Given the description of an element on the screen output the (x, y) to click on. 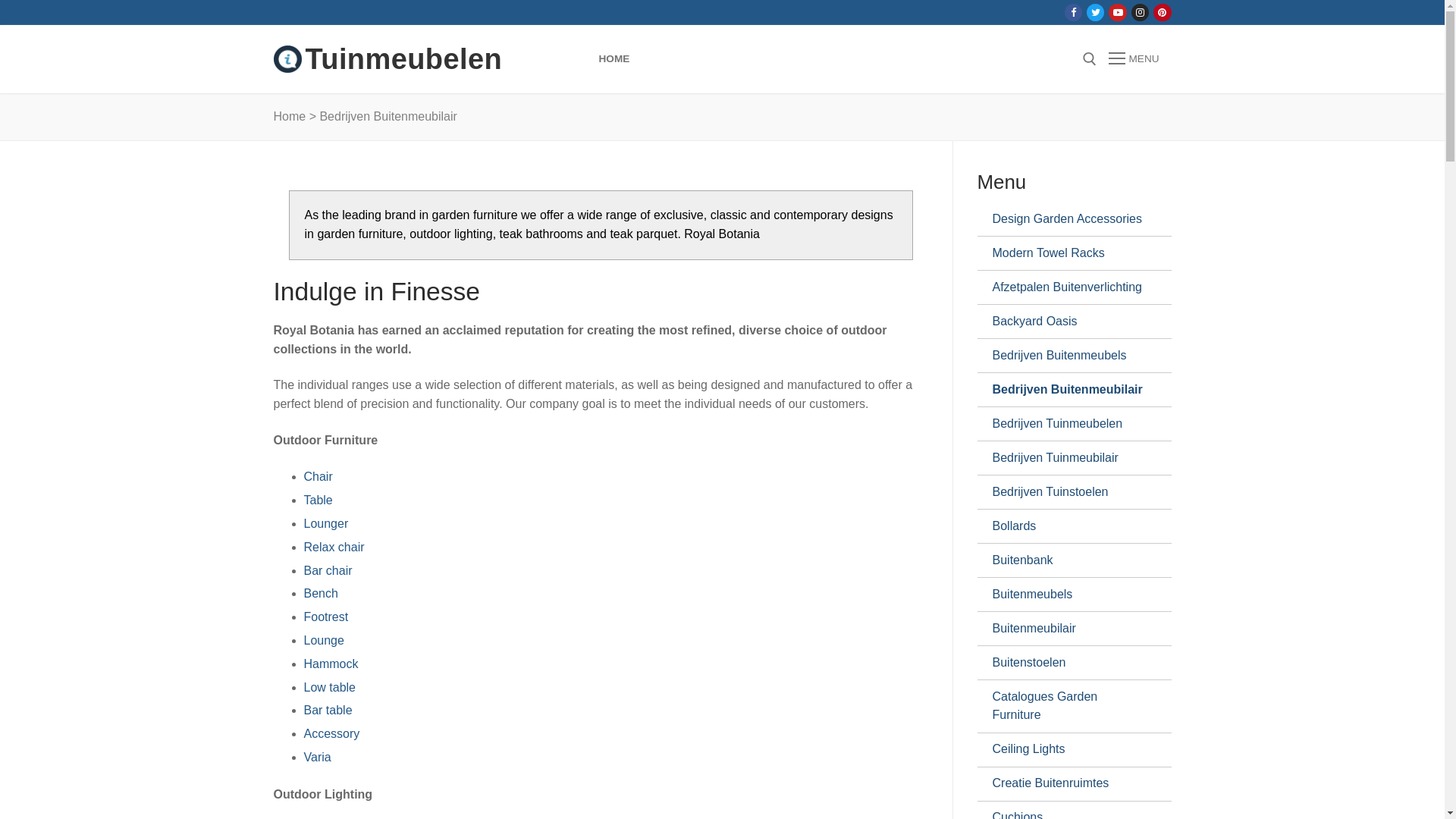
Bar chair Element type: text (327, 570)
Buitenbank Element type: text (1067, 560)
MENU Element type: text (1133, 59)
HOME Element type: text (613, 58)
Modern Towel Racks Element type: text (1067, 252)
Doorgaan naar inhoud Element type: text (0, 0)
Buitenmeubilair Element type: text (1067, 628)
Table Element type: text (317, 499)
Relax chair Element type: text (333, 546)
Lounge Element type: text (323, 639)
Backyard Oasis Element type: text (1067, 321)
Instagram Element type: hover (1140, 12)
Varia Element type: text (316, 756)
Youtube Element type: hover (1118, 12)
Buitenmeubels Element type: text (1067, 594)
Lounger Element type: text (325, 523)
Creatie Buitenruimtes Element type: text (1067, 783)
Catalogues Garden Furniture Element type: text (1067, 706)
Accessory Element type: text (331, 733)
Tuinmeubelen Element type: text (403, 58)
Facebook Element type: hover (1073, 12)
Bench Element type: text (320, 592)
Bedrijven Buitenmeubels Element type: text (1067, 355)
Low table Element type: text (329, 686)
Bar table Element type: text (327, 709)
Chair Element type: text (317, 476)
Bollards Element type: text (1067, 525)
Buitenstoelen Element type: text (1067, 662)
Hammock Element type: text (330, 663)
Bedrijven Tuinmeubelen Element type: text (1067, 423)
Bedrijven Tuinstoelen Element type: text (1067, 491)
Footrest Element type: text (325, 616)
Twitter Element type: hover (1095, 12)
Design Garden Accessories Element type: text (1067, 218)
Bedrijven Buitenmeubilair Element type: text (1067, 389)
Ceiling Lights Element type: text (1067, 749)
Pinterest Element type: hover (1162, 12)
Afzetpalen Buitenverlichting Element type: text (1067, 287)
Bedrijven Tuinmeubilair Element type: text (1067, 457)
